Given the description of an element on the screen output the (x, y) to click on. 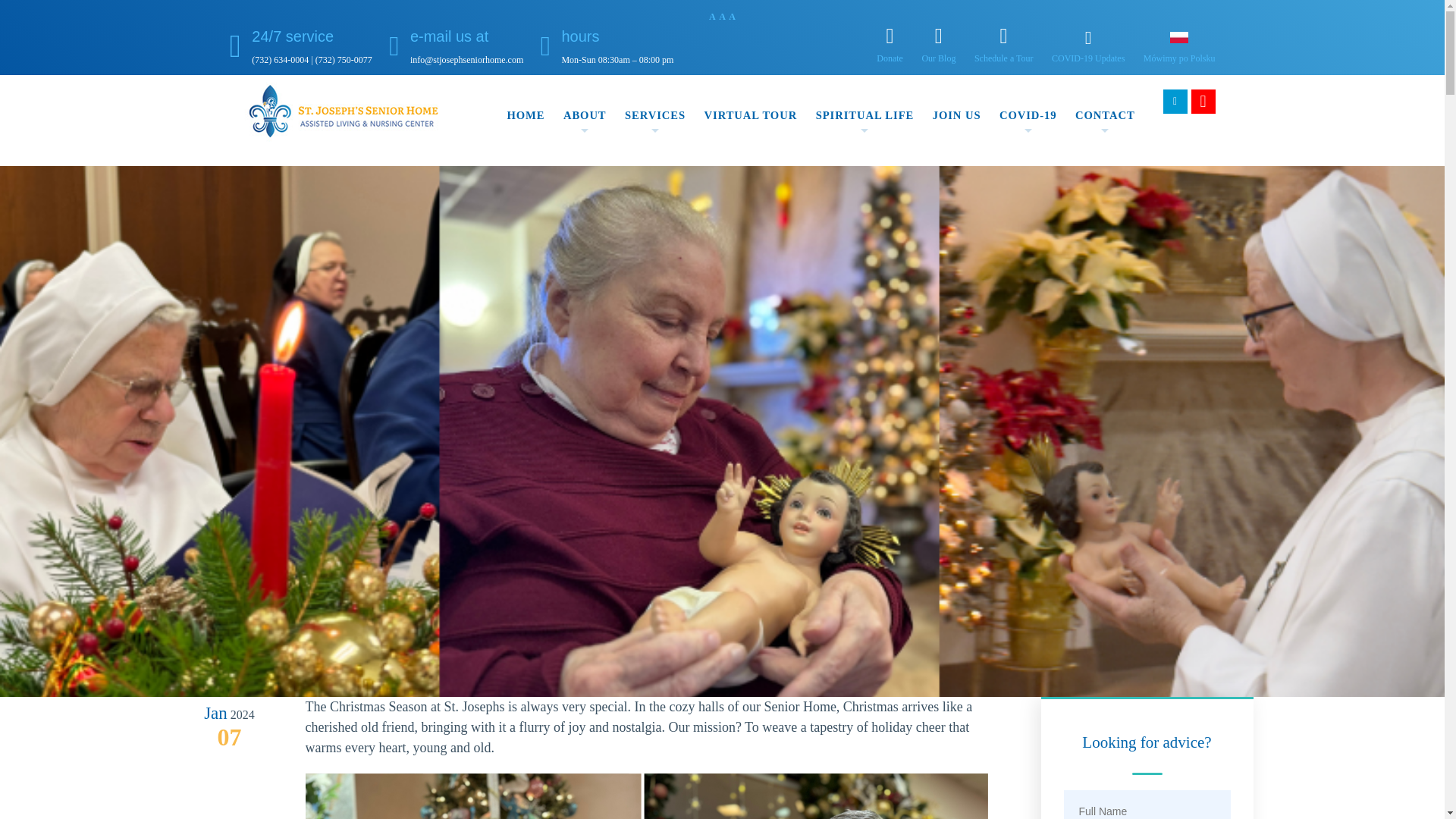
SERVICES (654, 115)
Schedule a Tour (1003, 45)
JOIN US (957, 115)
SPIRITUAL LIFE (864, 115)
VIRTUAL TOUR (750, 115)
COVID-19 Updates (1087, 47)
COVID-19 (1027, 115)
